Given the description of an element on the screen output the (x, y) to click on. 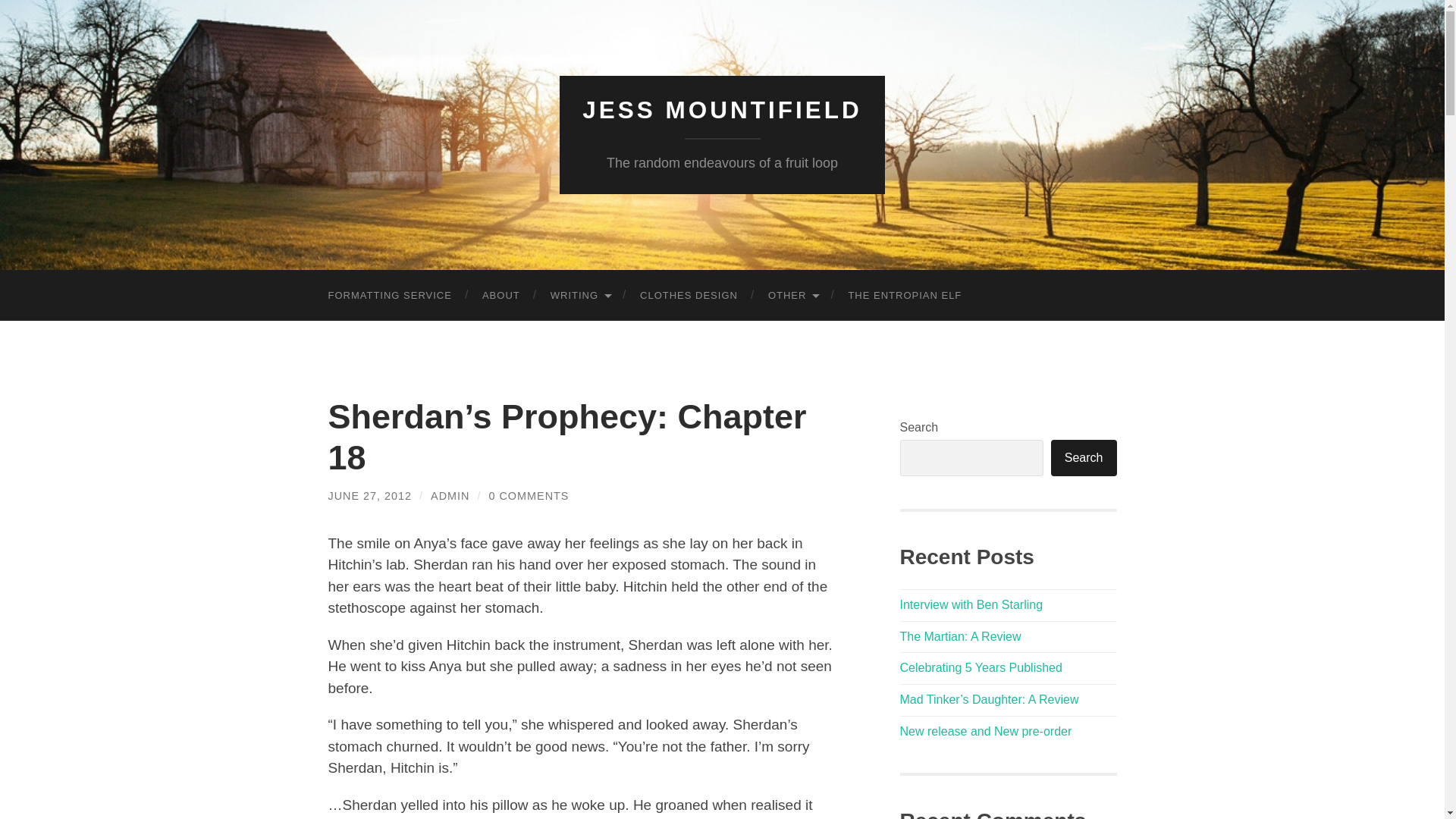
CLOTHES DESIGN (688, 295)
OTHER (792, 295)
ABOUT (501, 295)
JESS MOUNTIFIELD (721, 109)
THE ENTROPIAN ELF (904, 295)
Posts by admin (449, 495)
FORMATTING SERVICE (389, 295)
WRITING (579, 295)
